Given the description of an element on the screen output the (x, y) to click on. 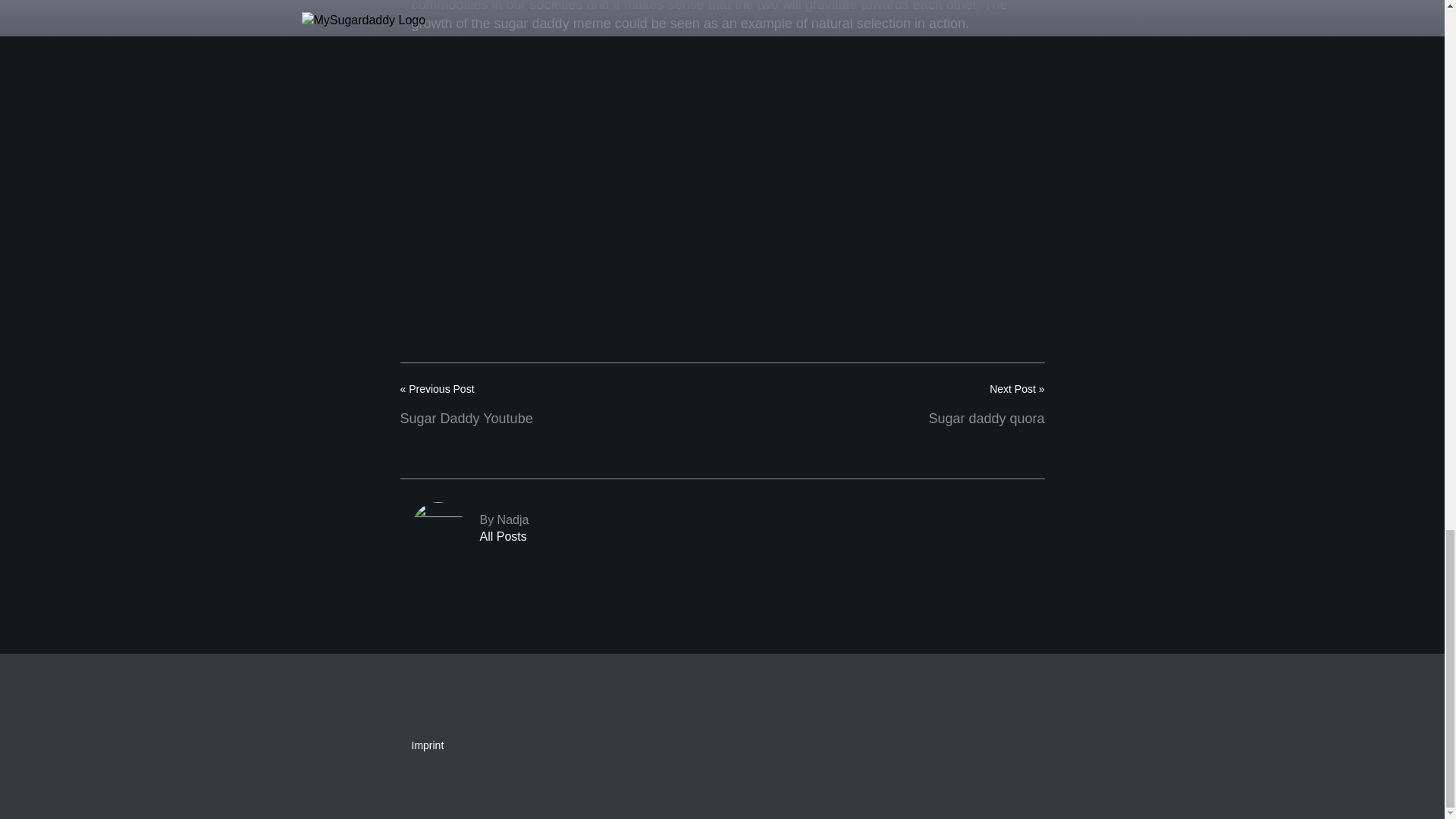
Nadja (721, 528)
Imprint (721, 528)
